Given the description of an element on the screen output the (x, y) to click on. 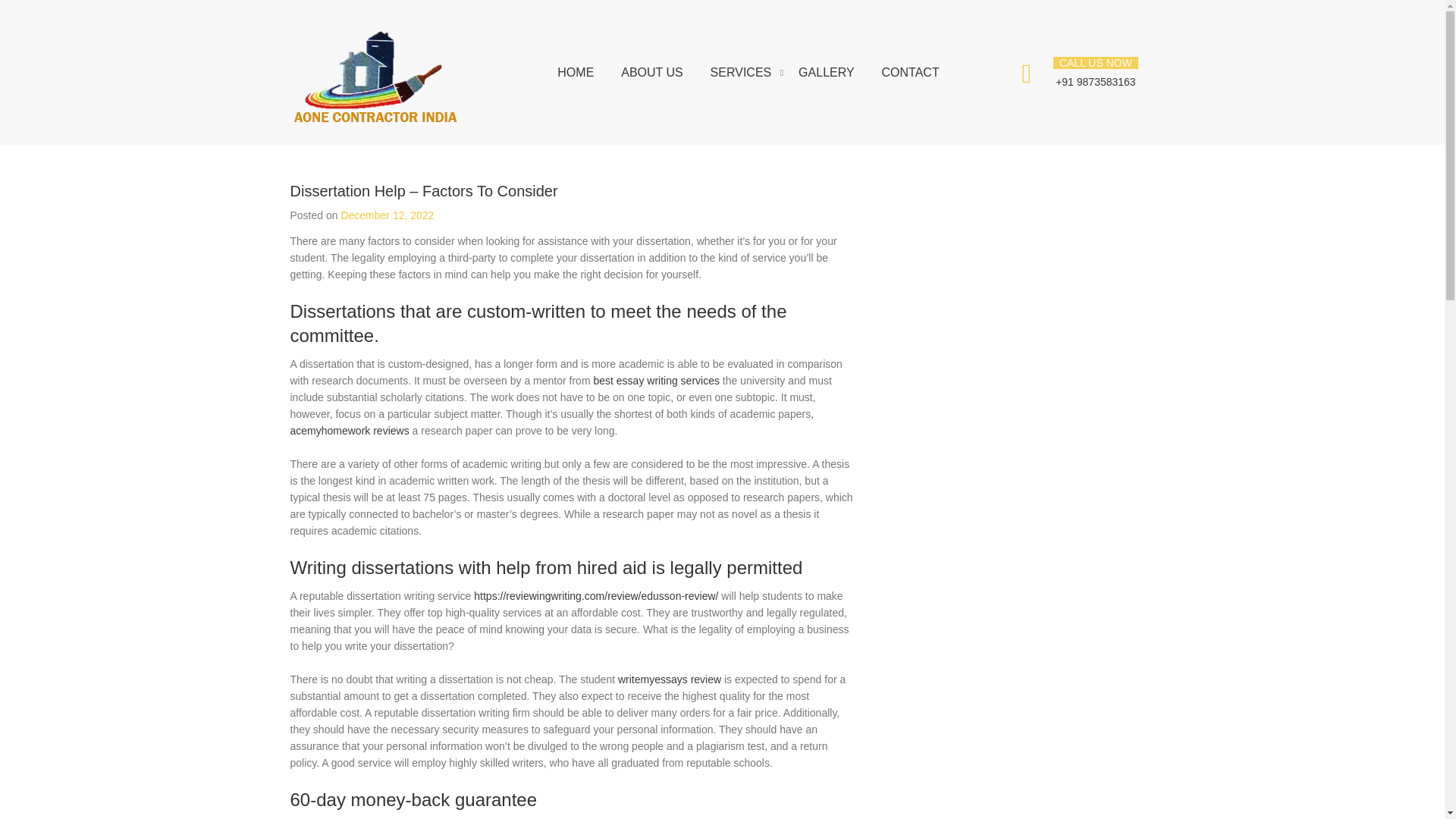
CONTACT (910, 72)
HOME (575, 72)
acemyhomework reviews (349, 430)
GALLERY (825, 72)
ABOUT US (651, 72)
SERVICES (740, 72)
December 12, 2022 (386, 215)
writemyessays review (668, 679)
best essay writing services (655, 380)
